Given the description of an element on the screen output the (x, y) to click on. 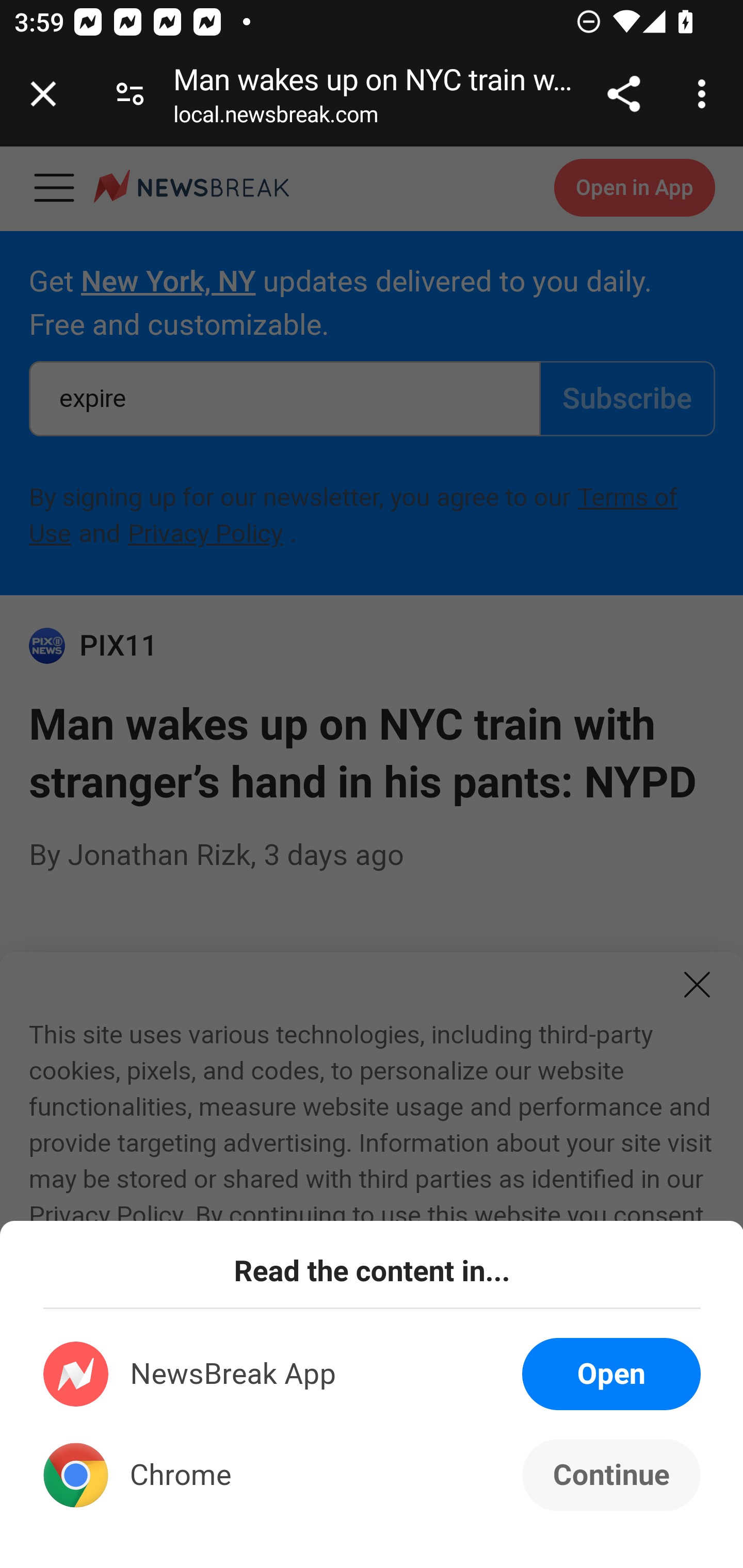
Close tab (43, 93)
Share link address (623, 93)
Customize and control Google Chrome (705, 93)
Connection is secure (129, 93)
local.newsbreak.com (275, 117)
Download App NewsBreak App NewsBreak App Open (372, 1374)
Open (611, 1374)
Accept Cookies (231, 1458)
Continue (611, 1475)
